Given the description of an element on the screen output the (x, y) to click on. 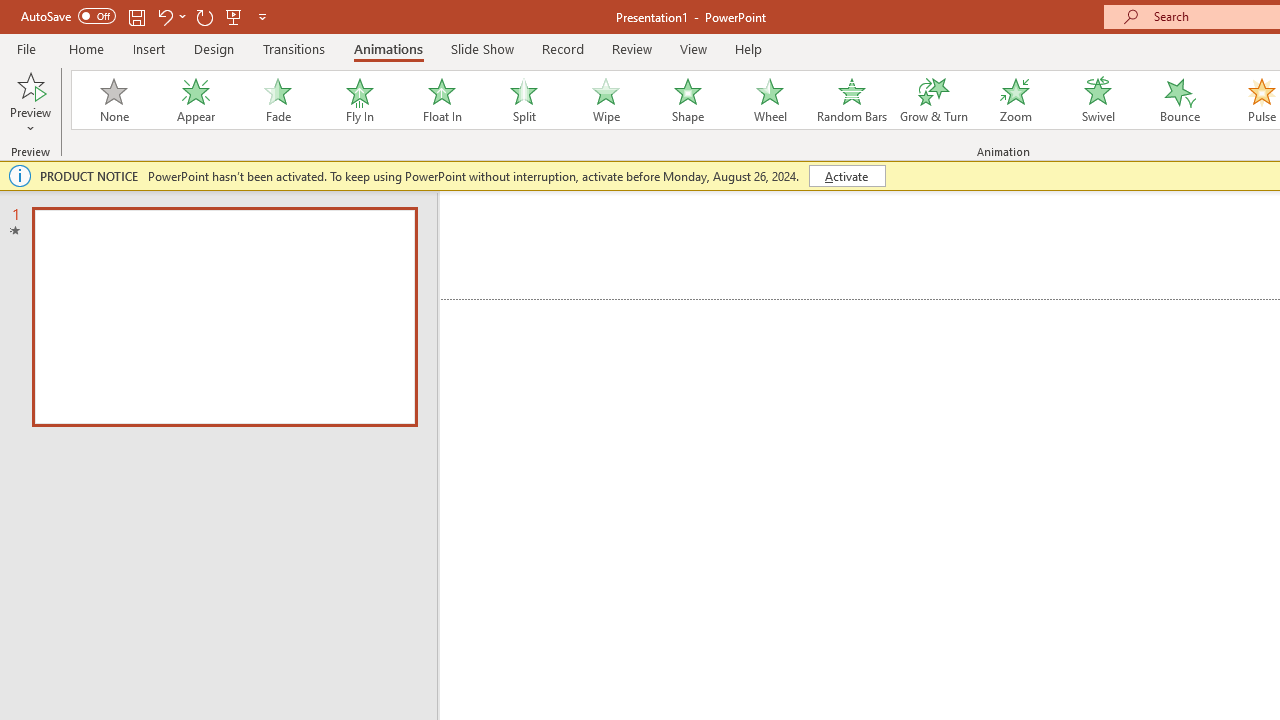
Fly In (359, 100)
Bounce (1180, 100)
Wheel (770, 100)
Wipe (605, 100)
Activate (846, 175)
Grow & Turn (934, 100)
None (113, 100)
Shape (687, 100)
